Given the description of an element on the screen output the (x, y) to click on. 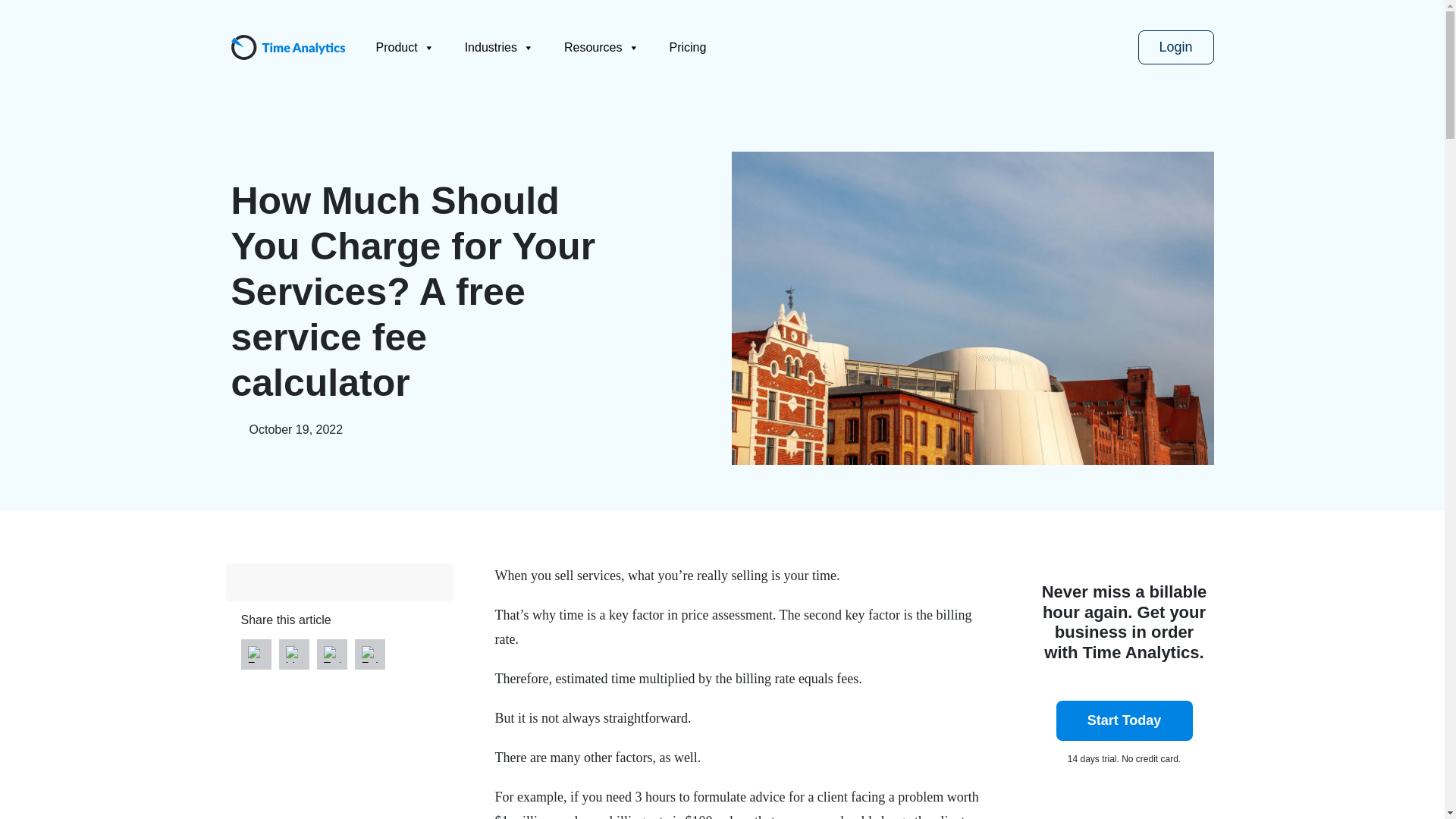
Resources (600, 46)
Facebook (255, 654)
LinkedIn (293, 654)
Follow by Email (369, 654)
Product (405, 46)
Industries (498, 46)
Twitter (331, 654)
